Given the description of an element on the screen output the (x, y) to click on. 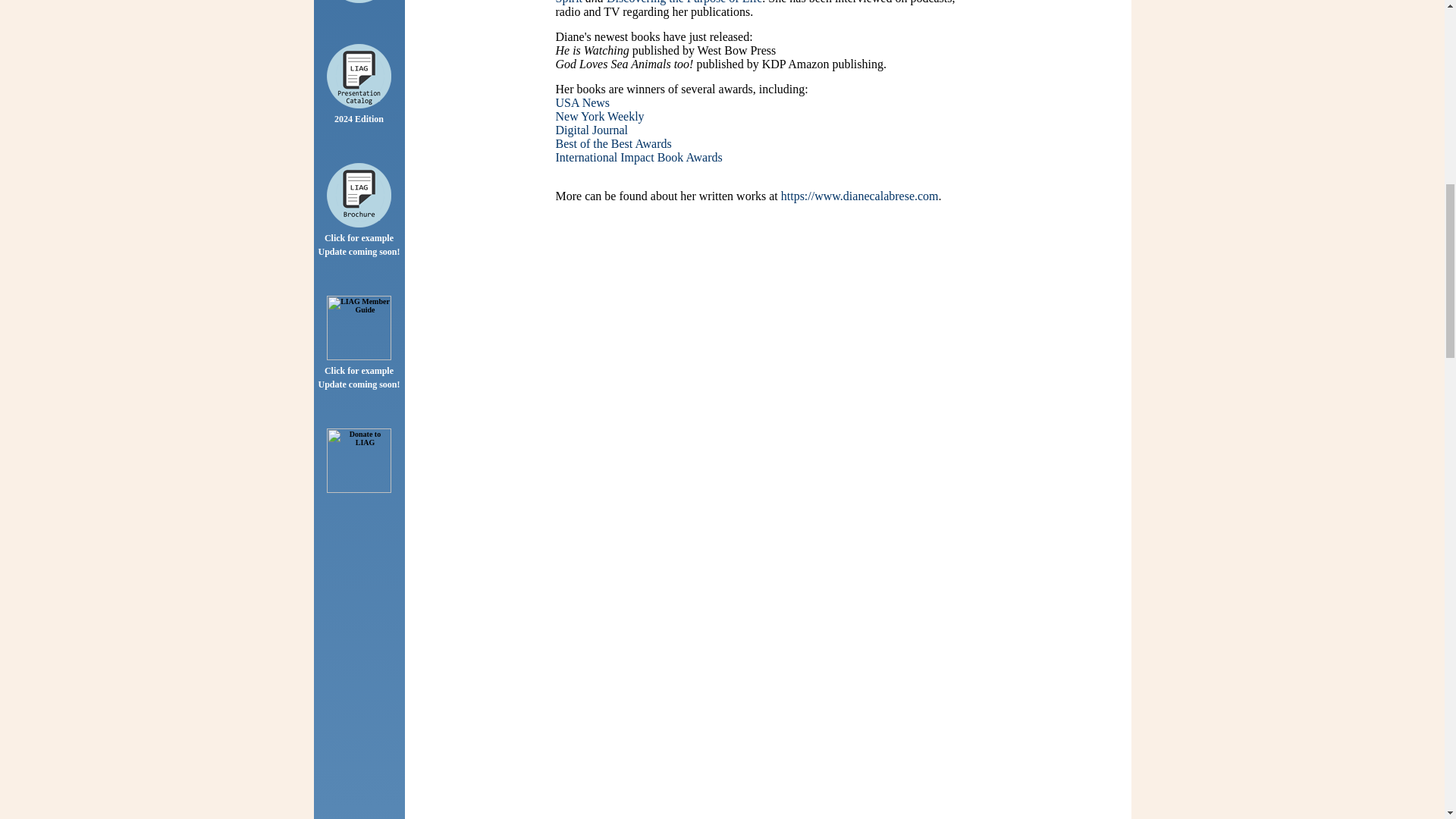
YouTube video player (766, 347)
Digital Journal (590, 129)
Donate to LIAG (358, 460)
YouTube video player (766, 790)
YouTube video player (766, 614)
See our authors on the 'Writers's Dream' (358, 1)
LIAG Brochure (358, 194)
International Impact Book Awards (638, 156)
Best of the Best Awards (612, 143)
LIAG Member Guide (358, 327)
Discovering the Purpose of Life (684, 2)
New York Weekly (598, 115)
Meditations for the Mind-Body-Spirit and Mind, Body, Spirit (758, 2)
USA News (582, 102)
